Given the description of an element on the screen output the (x, y) to click on. 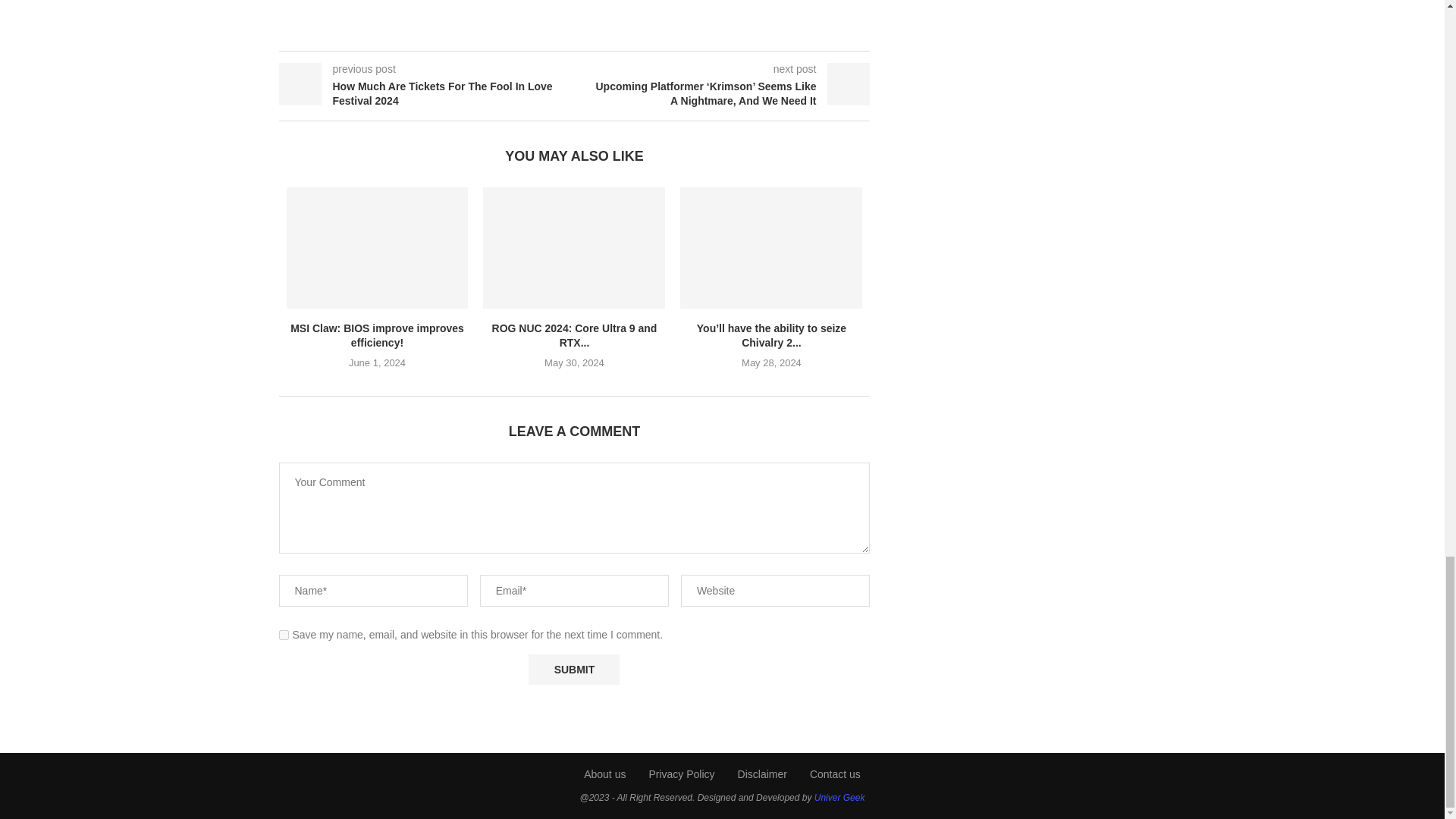
ROG NUC 2024: Core Ultra 9 and RTX 4070 in 2.5l of quantity (574, 247)
yes (283, 634)
MSI Claw: BIOS improve improves efficiency! (377, 247)
Submit (574, 669)
